Given the description of an element on the screen output the (x, y) to click on. 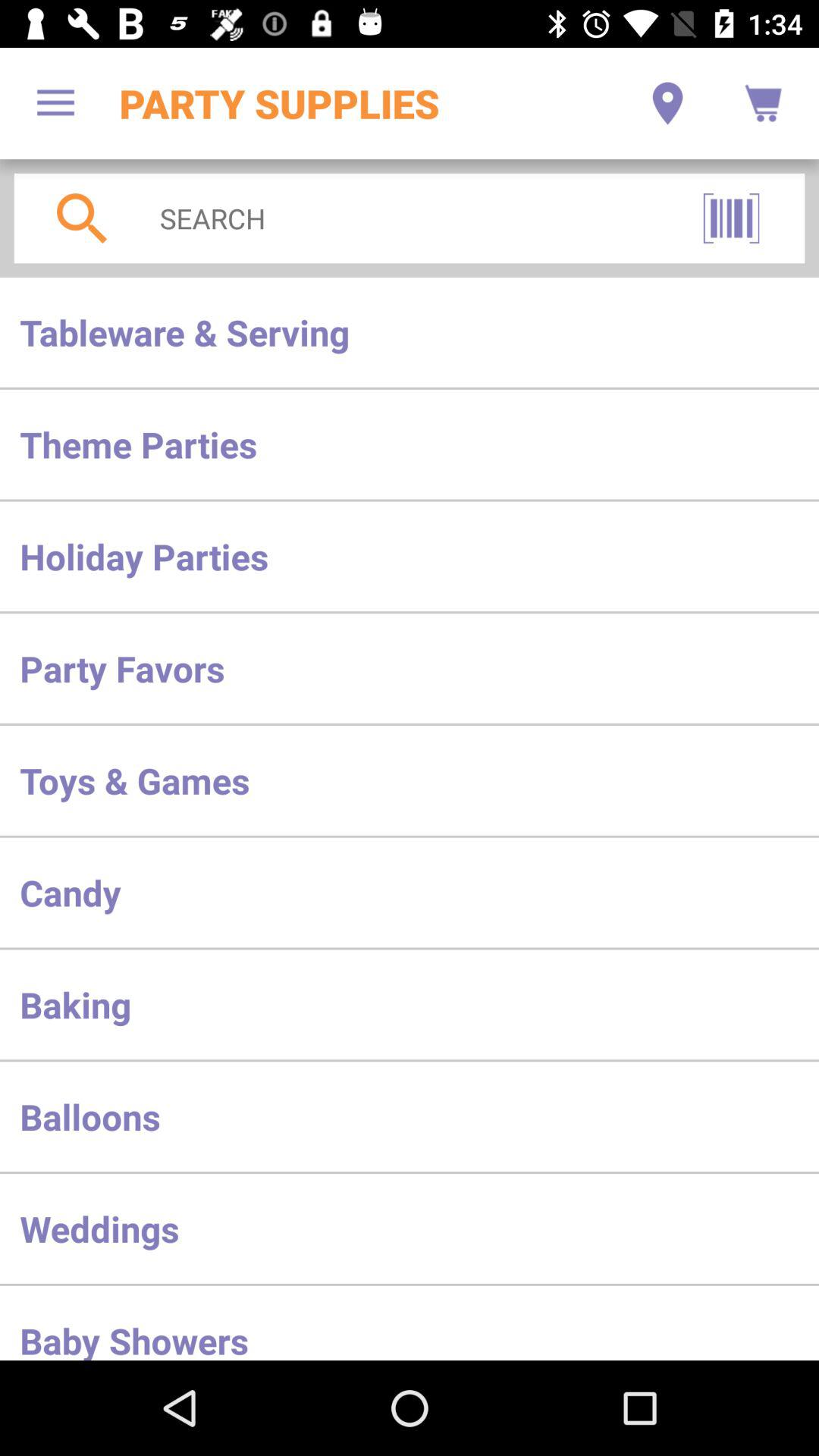
turn off the item below the theme parties item (409, 556)
